Given the description of an element on the screen output the (x, y) to click on. 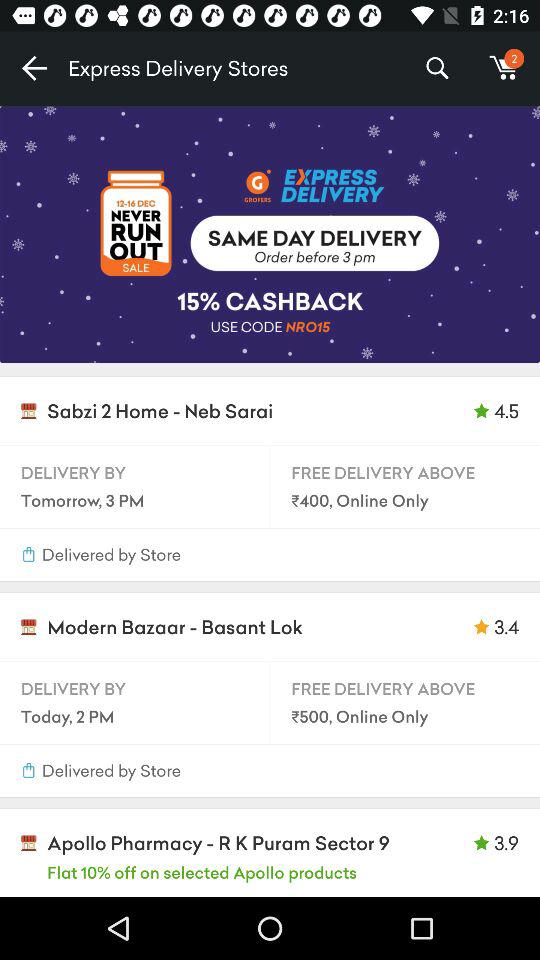
turn on the item next to the m (436, 67)
